Given the description of an element on the screen output the (x, y) to click on. 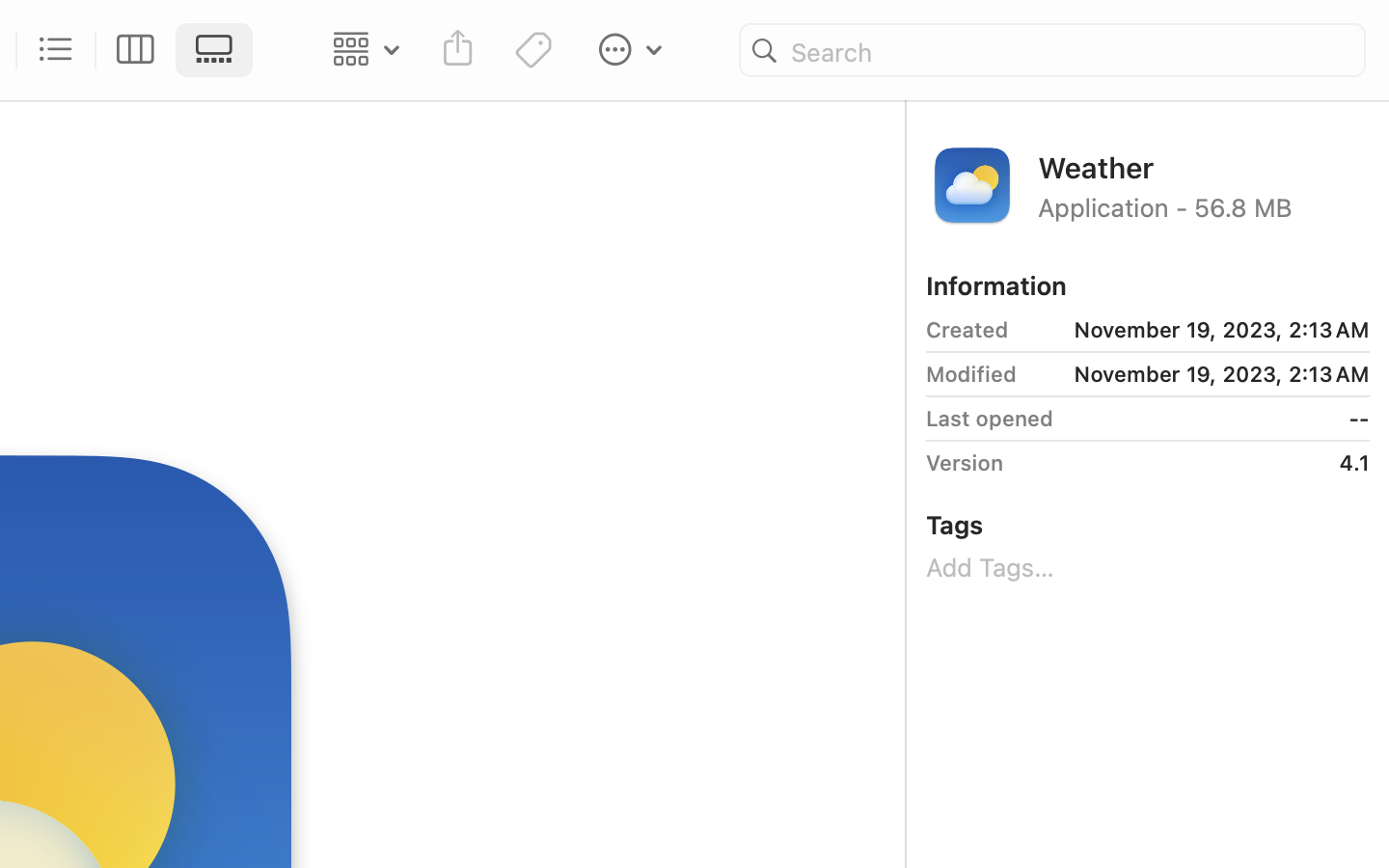
Tags Element type: AXStaticText (954, 524)
Information Element type: AXStaticText (996, 285)
November 19, 2023, 2:13 AM Element type: AXStaticText (1196, 329)
